Given the description of an element on the screen output the (x, y) to click on. 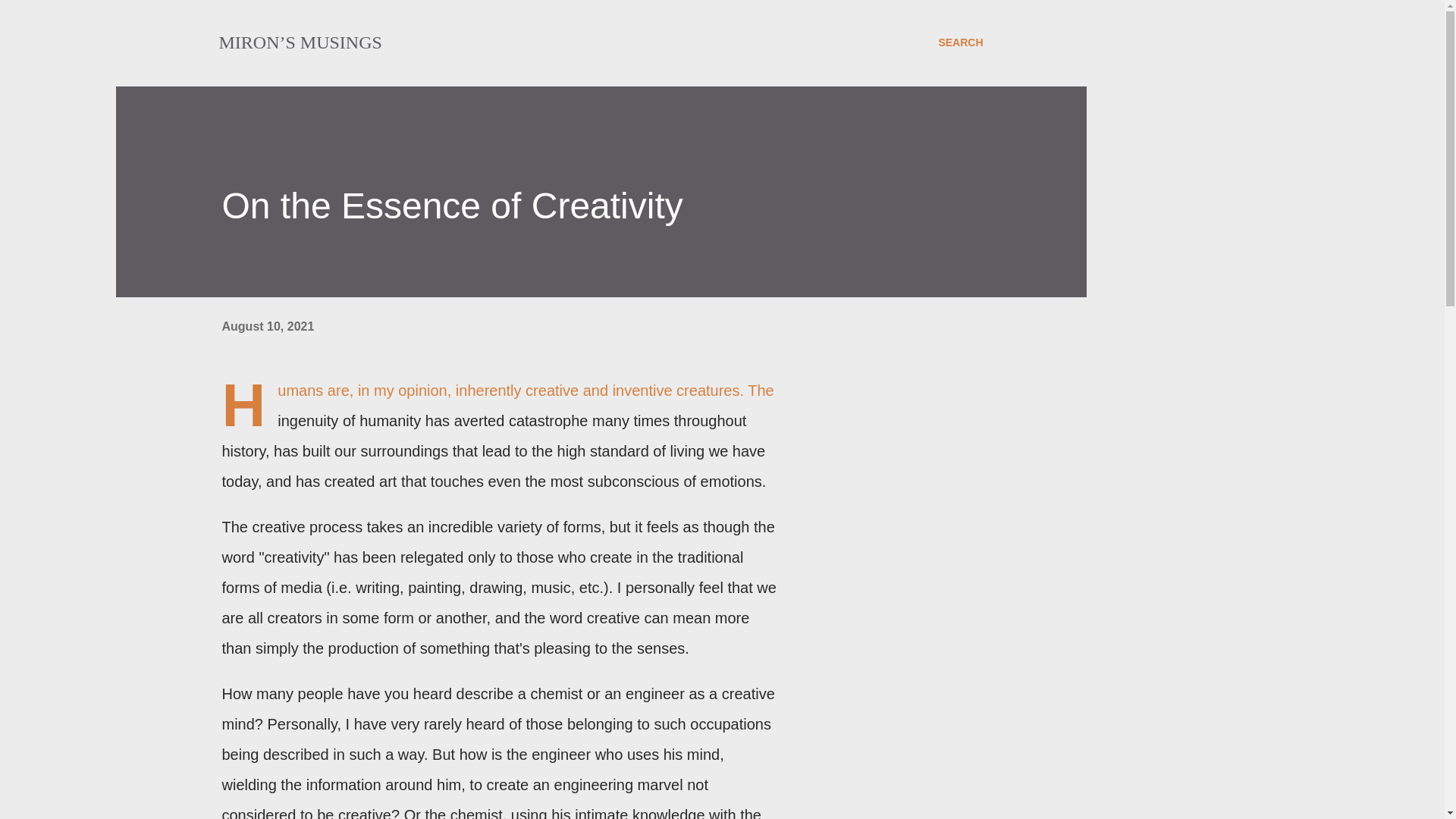
August 10, 2021 (267, 326)
permanent link (267, 326)
SEARCH (959, 42)
